Given the description of an element on the screen output the (x, y) to click on. 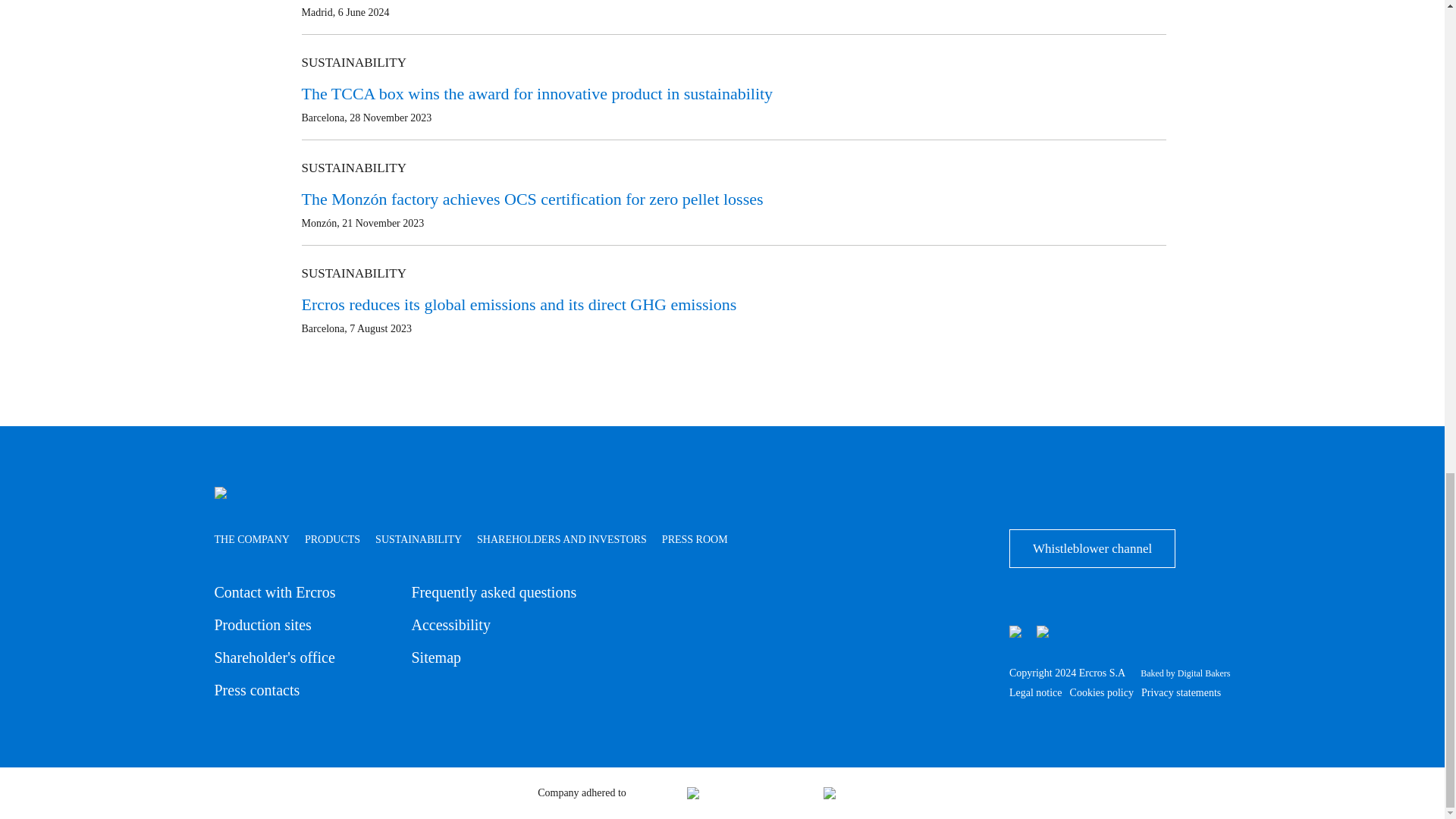
Tuesday, November 28, 2023 - 21:34 (389, 117)
Tuesday, November 21, 2023 - 21:34 (382, 223)
Thursday, June 6, 2024 - 18:00 (363, 12)
Monday, August 7, 2023 - 21:34 (380, 328)
